Given the description of an element on the screen output the (x, y) to click on. 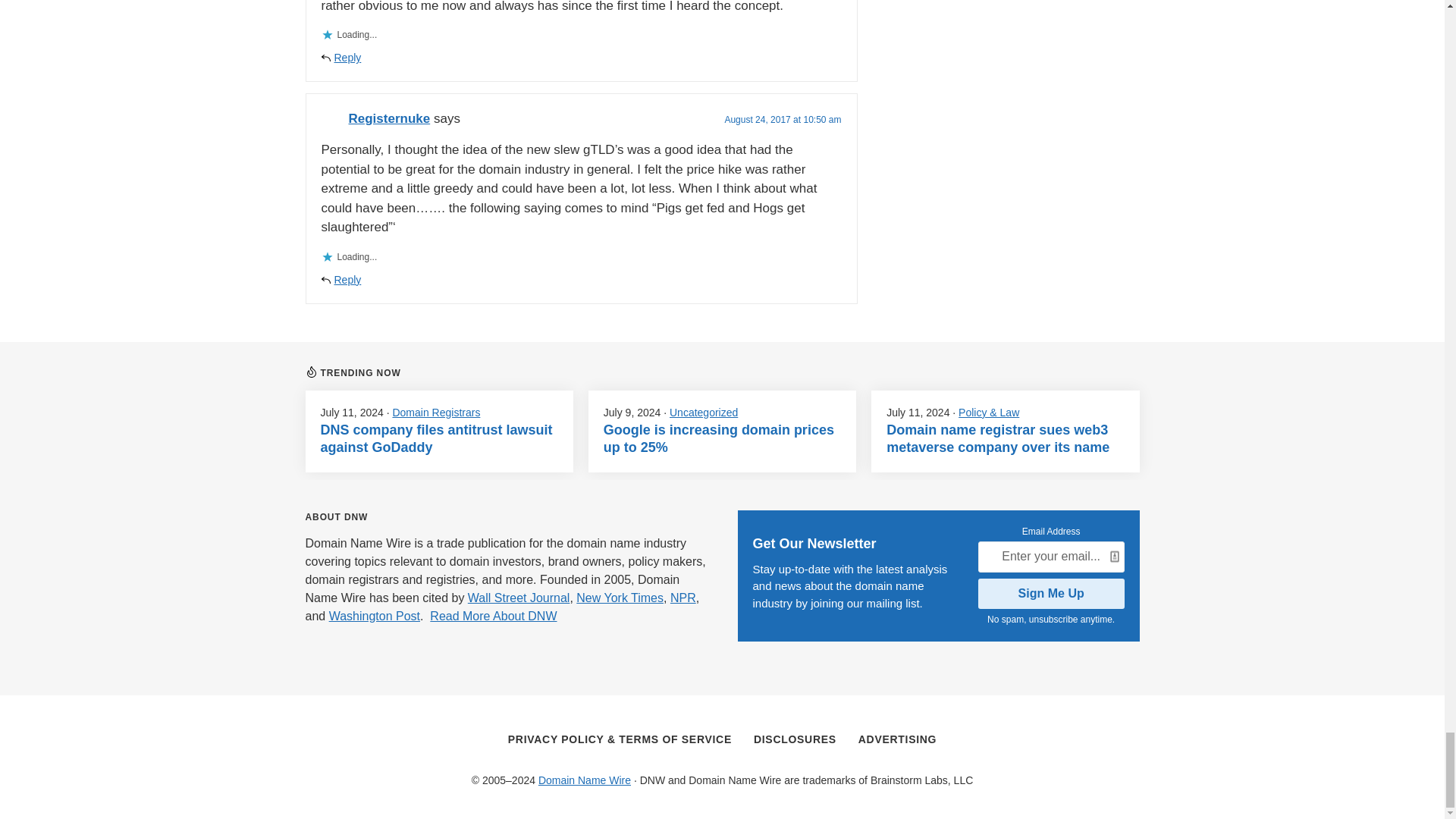
Sign Me Up (1051, 593)
